Given the description of an element on the screen output the (x, y) to click on. 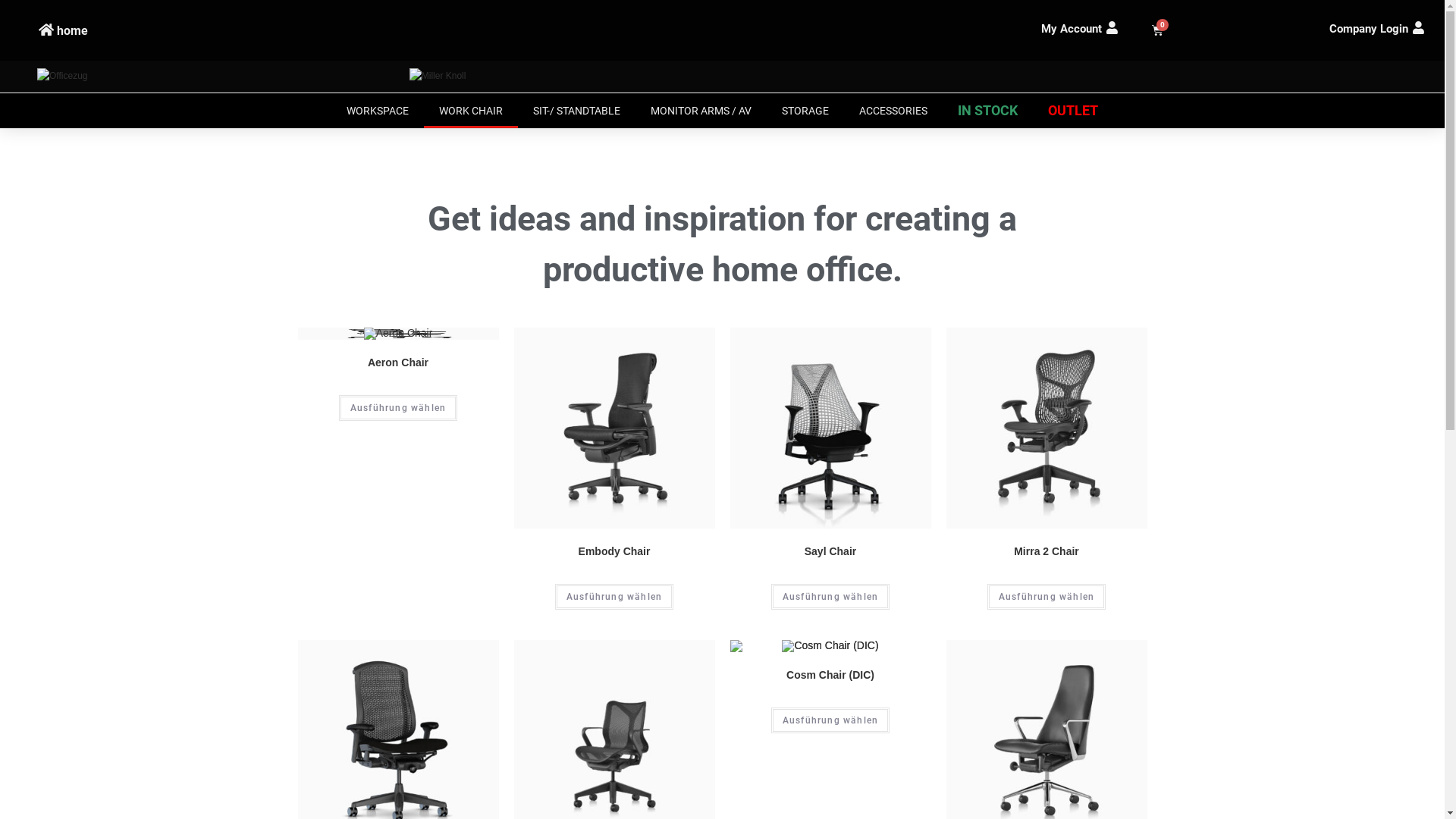
MONITOR ARMS / AV Element type: text (700, 110)
WORKSPACE Element type: text (377, 110)
Mirra 2 Chair Element type: text (1046, 551)
0 Element type: text (1157, 30)
Aeron Chair Element type: text (397, 362)
Embody Chair Element type: text (614, 551)
home Element type: text (71, 30)
Sayl Chair Element type: text (830, 551)
SIT-/ STANDTABLE Element type: text (576, 110)
My Account Element type: text (1071, 28)
Cosm Chair (DIC) Element type: text (830, 675)
STORAGE Element type: text (805, 110)
WORK CHAIR Element type: text (470, 110)
Company Login Element type: text (1368, 28)
MK_AssociateDealer_Standard_White_RGB Element type: hover (437, 76)
Logo-die-Servicecopmany_Neutral_weiss Element type: hover (62, 76)
ACCESSORIES Element type: text (893, 110)
OUTLET Element type: text (1072, 110)
IN STOCK Element type: text (987, 110)
